Given the description of an element on the screen output the (x, y) to click on. 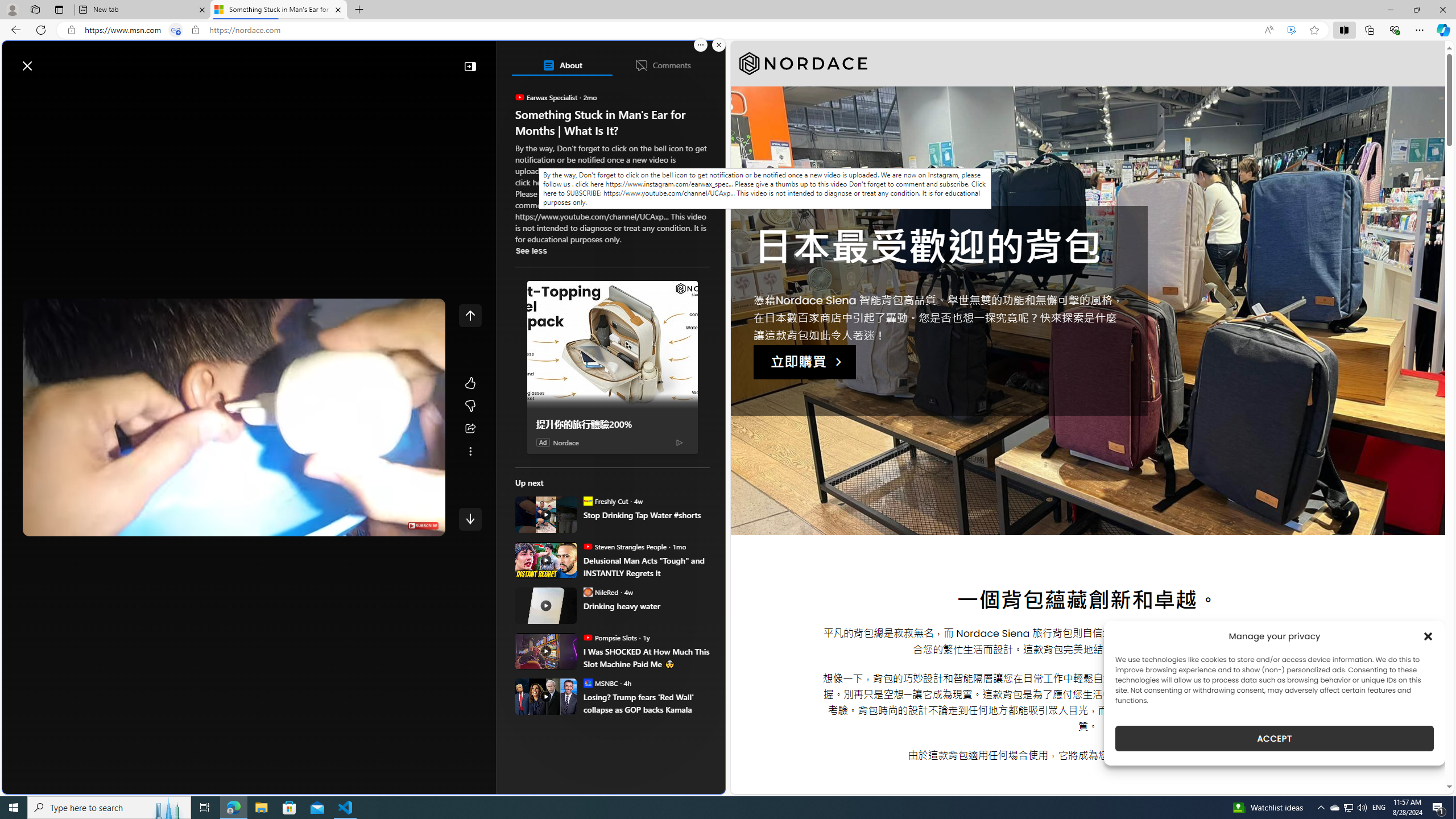
Nordace.com (577, 249)
ACCEPT (1274, 738)
Following (98, 92)
Collapse (469, 65)
Address and search bar (669, 29)
Pompsie Slots (587, 637)
Back (13, 29)
Open Copilot (565, 59)
More options. (700, 45)
Browser essentials (1394, 29)
Freshly Cut Freshly Cut (605, 500)
Web search (161, 60)
See more (469, 451)
